Given the description of an element on the screen output the (x, y) to click on. 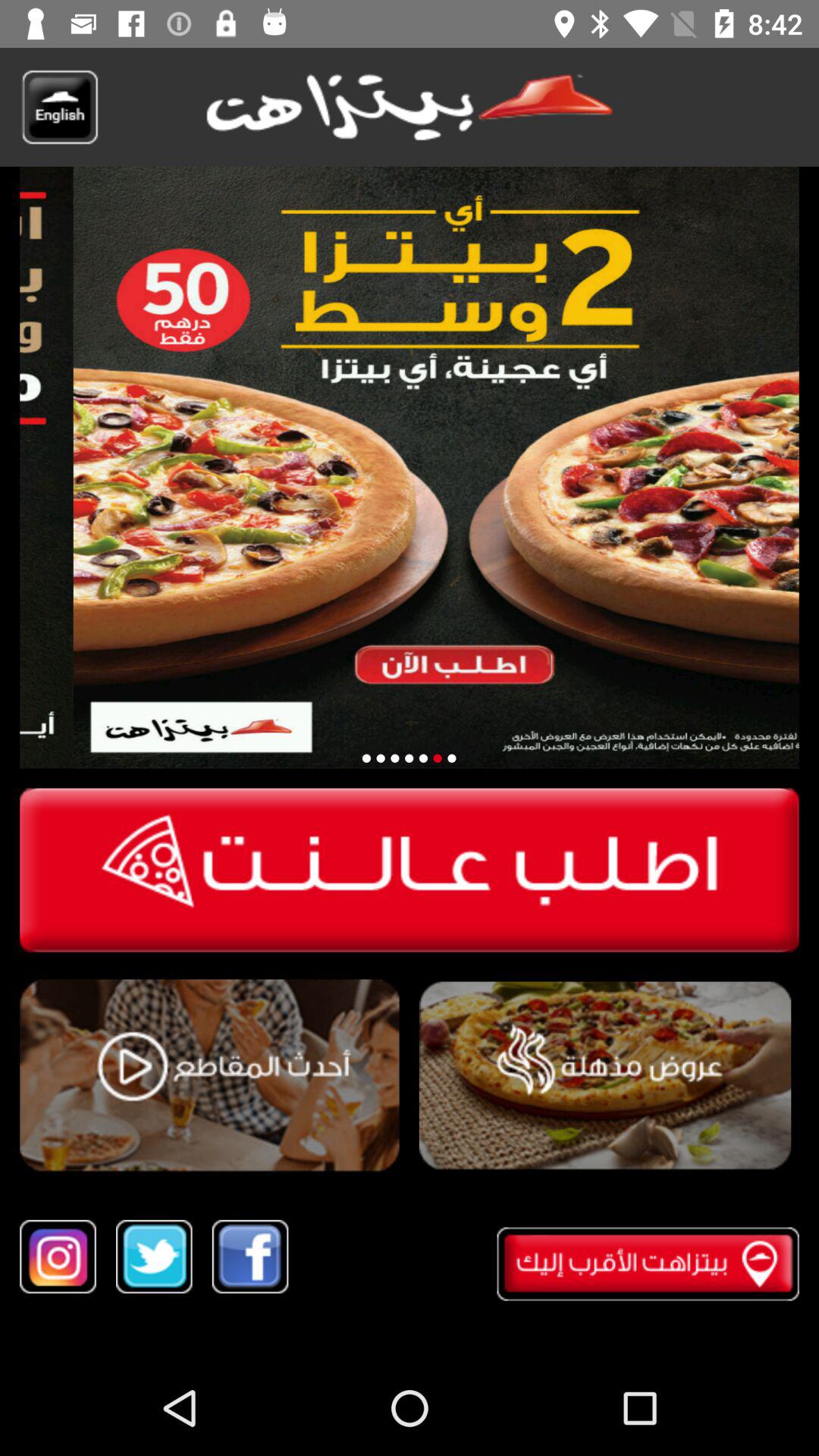
go to next queued image (437, 758)
